Given the description of an element on the screen output the (x, y) to click on. 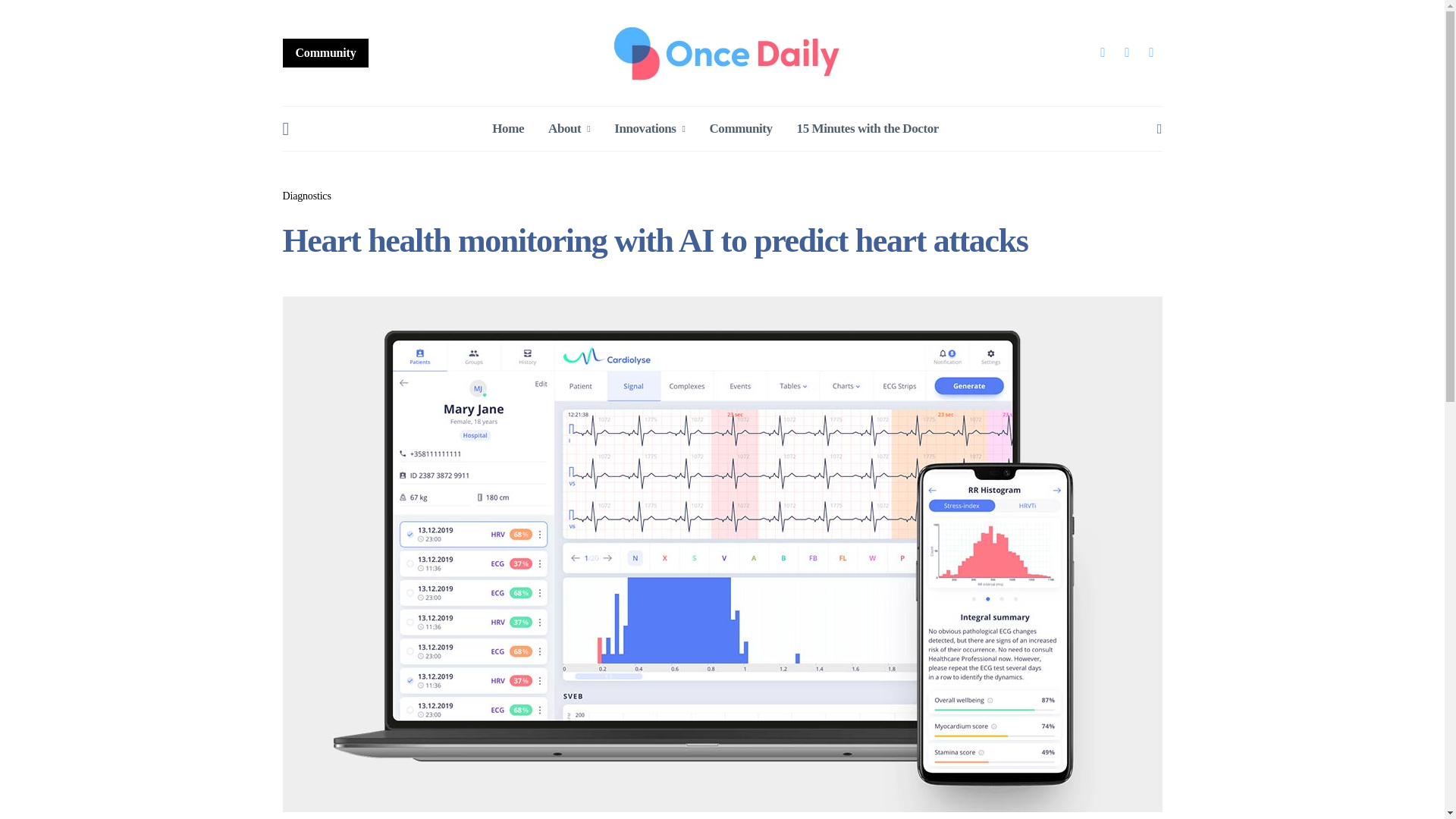
Innovations (649, 128)
About (568, 128)
Community (325, 52)
